Given the description of an element on the screen output the (x, y) to click on. 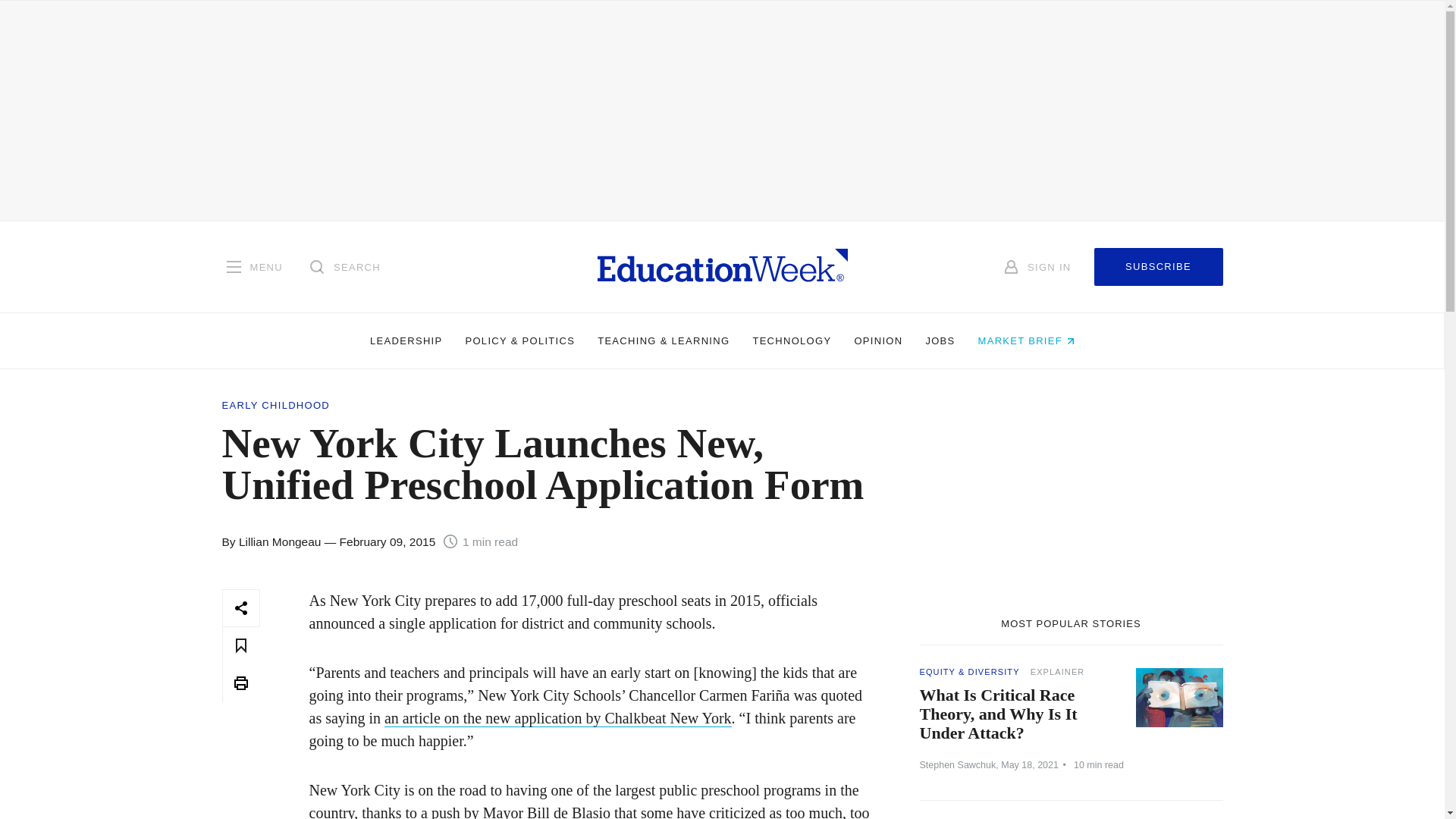
Homepage (721, 266)
